Given the description of an element on the screen output the (x, y) to click on. 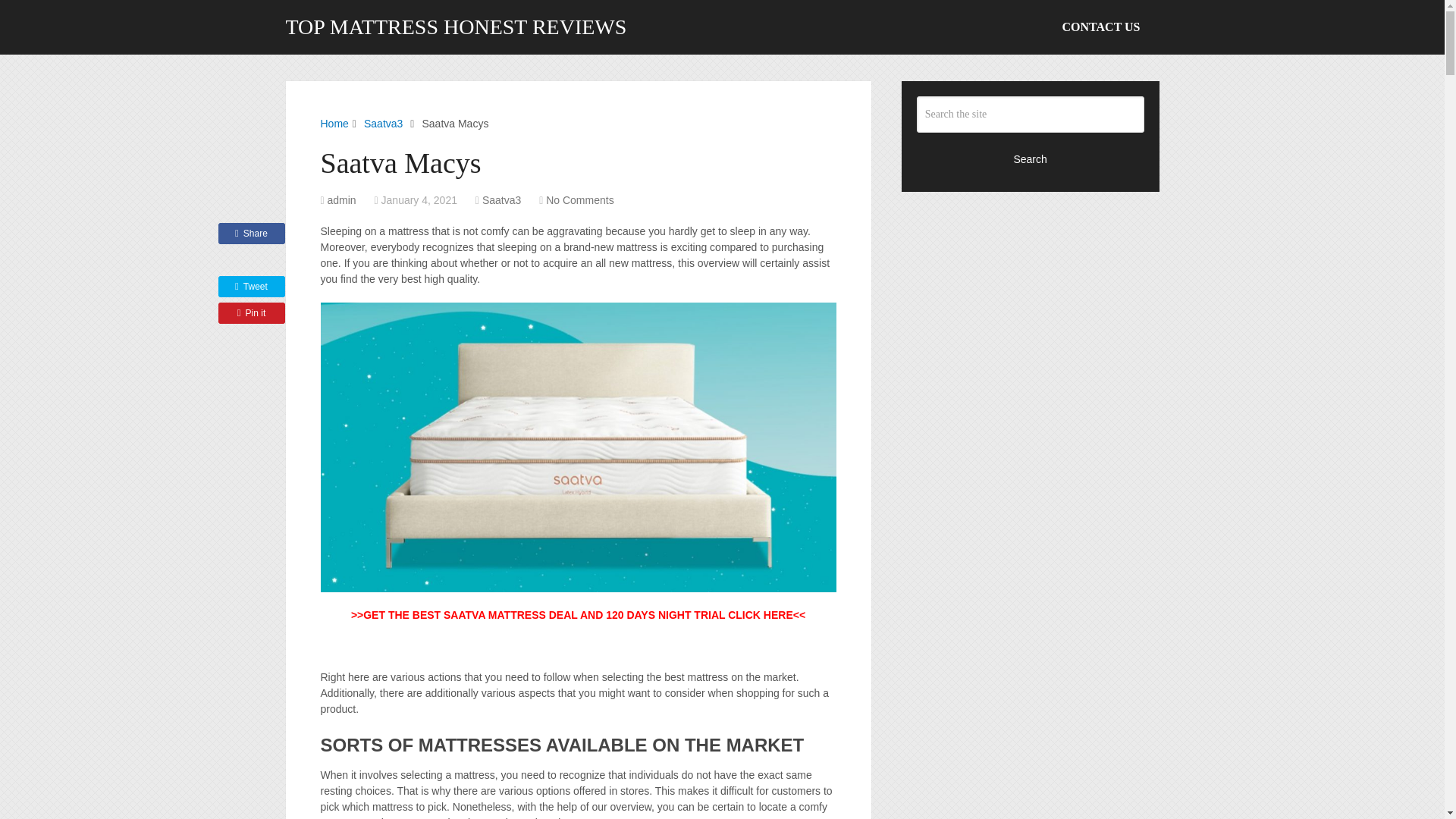
Saatva3 (383, 123)
admin (341, 200)
Pin it (251, 312)
Share (251, 233)
CONTACT US (1100, 27)
Home (333, 123)
View all posts in Saatva3 (501, 200)
No Comments (579, 200)
Saatva3 (501, 200)
Tweet (251, 286)
TOP MATTRESS HONEST REVIEWS (455, 26)
Posts by admin (341, 200)
